Given the description of an element on the screen output the (x, y) to click on. 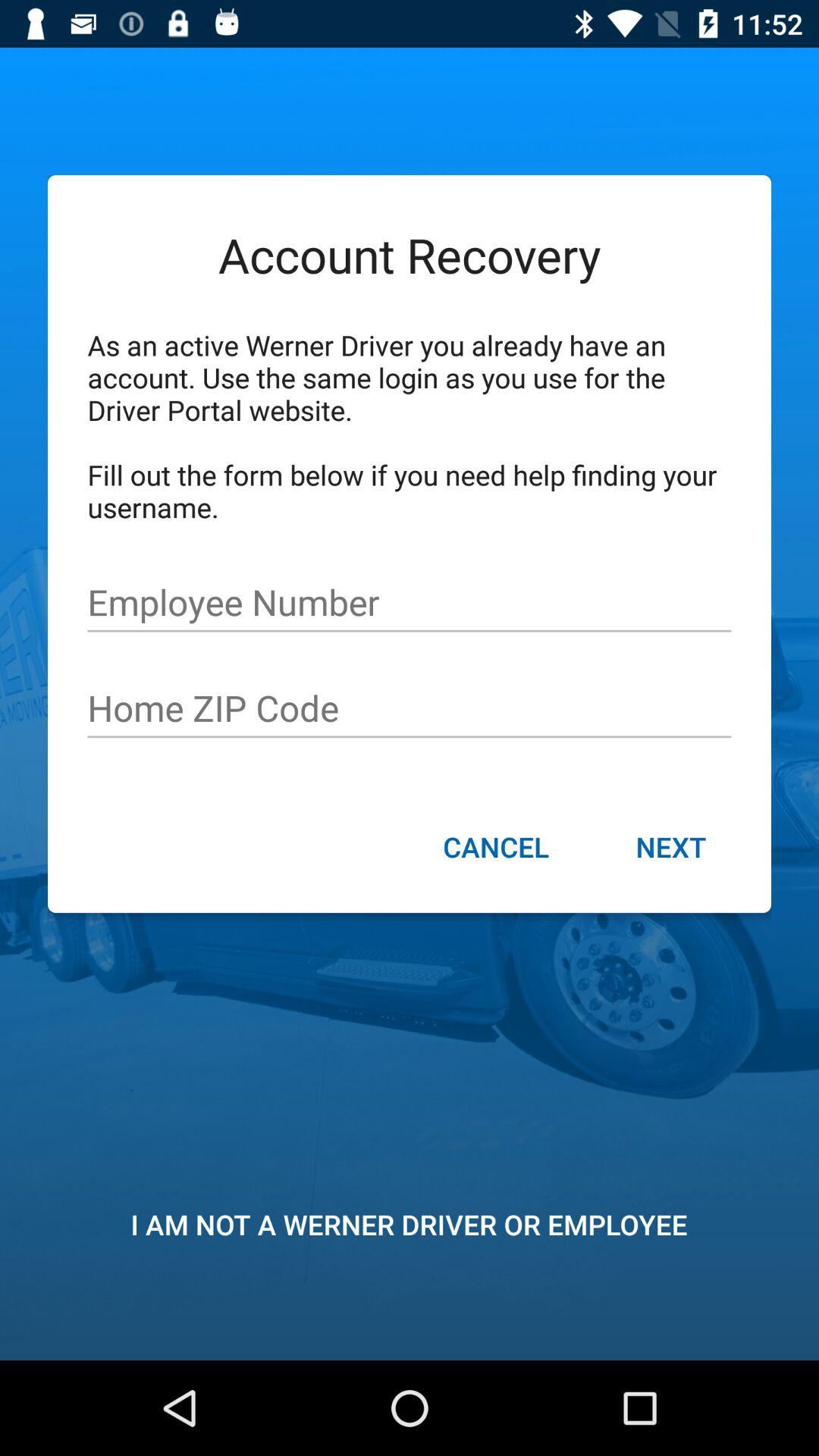
click the item above the cancel item (409, 708)
